Given the description of an element on the screen output the (x, y) to click on. 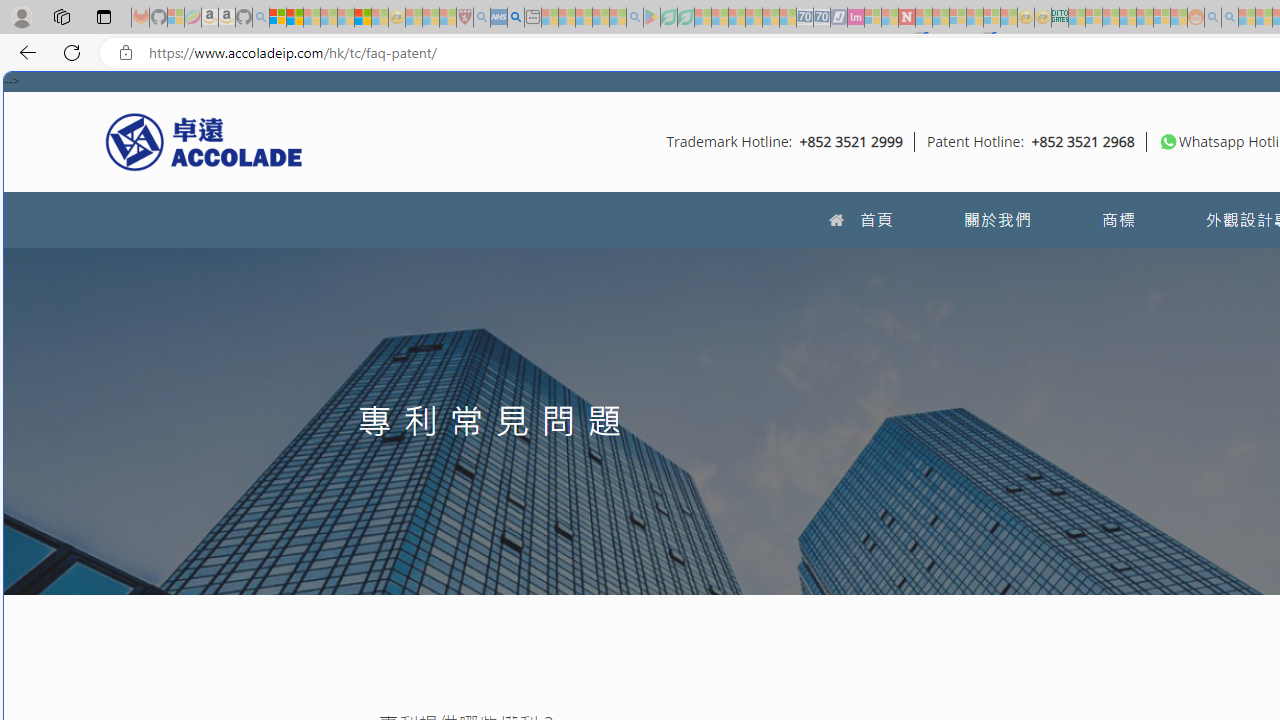
Accolade IP HK Logo (203, 141)
